Given the description of an element on the screen output the (x, y) to click on. 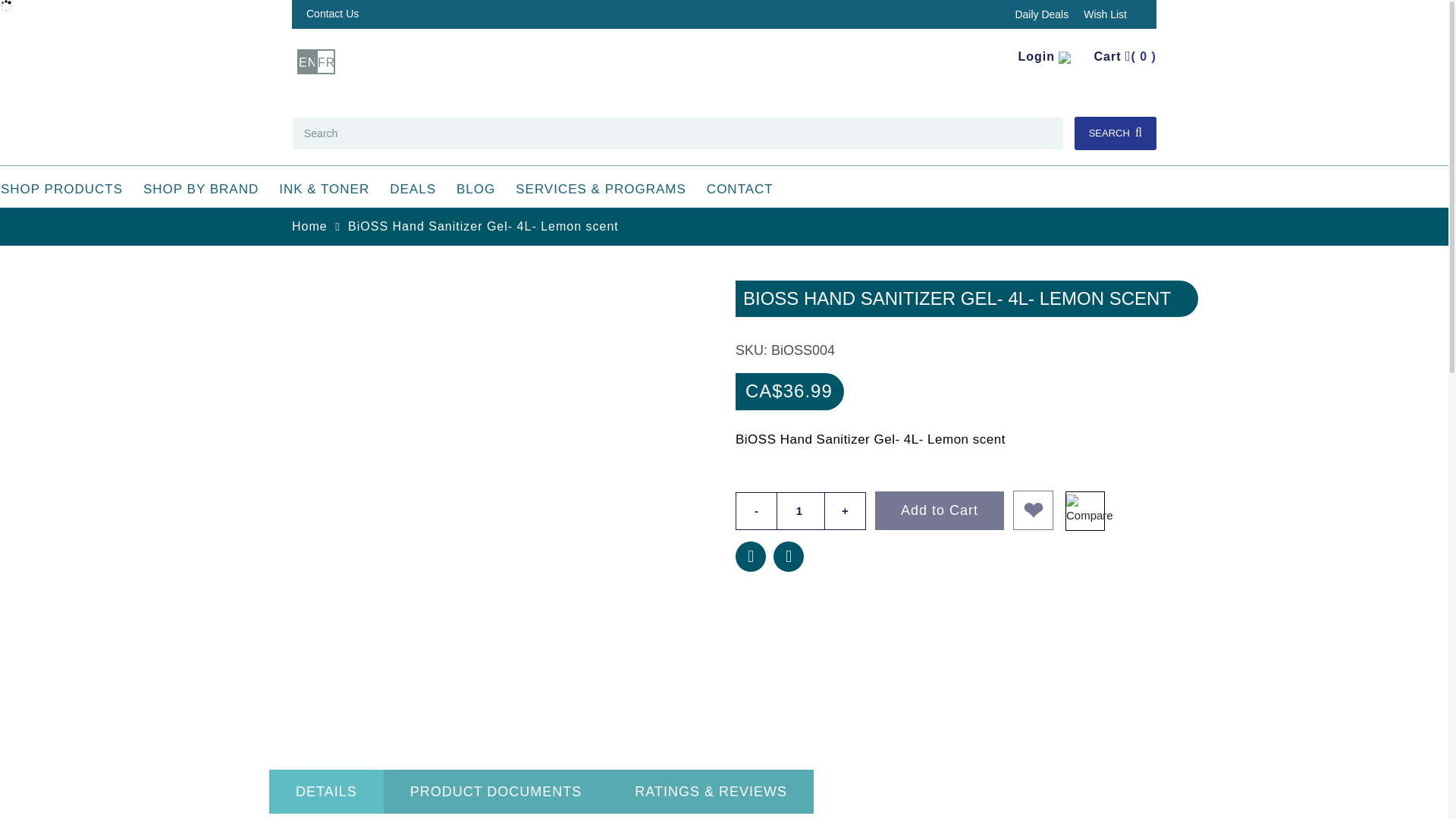
SHOP PRODUCTS (65, 189)
Wish List (1104, 14)
Login (1053, 56)
Cart (1124, 56)
1 (800, 510)
Contact Us (331, 13)
SEARCH  (1115, 133)
PrintersPlus (706, 60)
Daily Deals (1041, 14)
SHOP BY BRAND (200, 189)
